Given the description of an element on the screen output the (x, y) to click on. 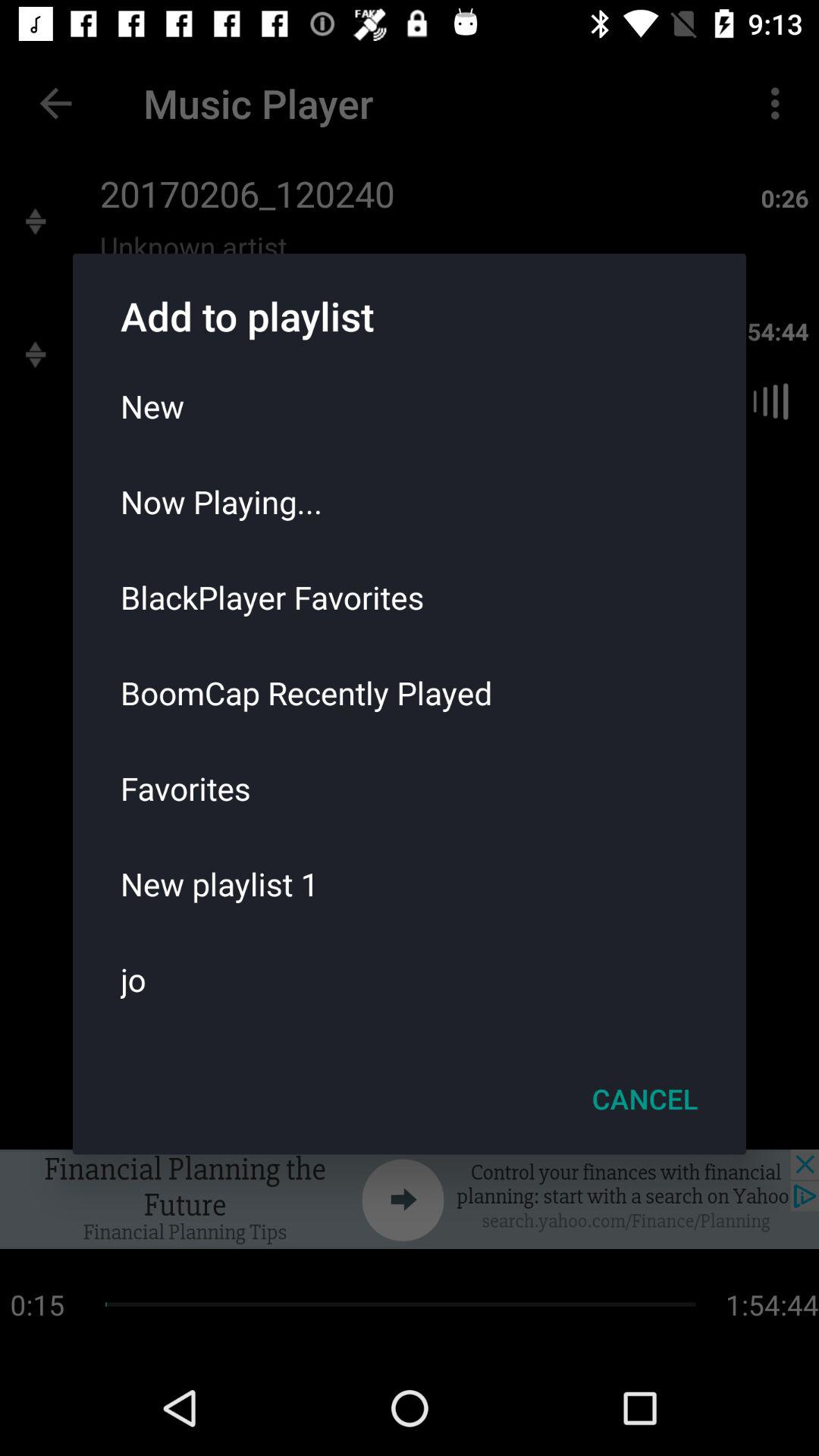
swipe until the boomcap recently played icon (409, 692)
